Given the description of an element on the screen output the (x, y) to click on. 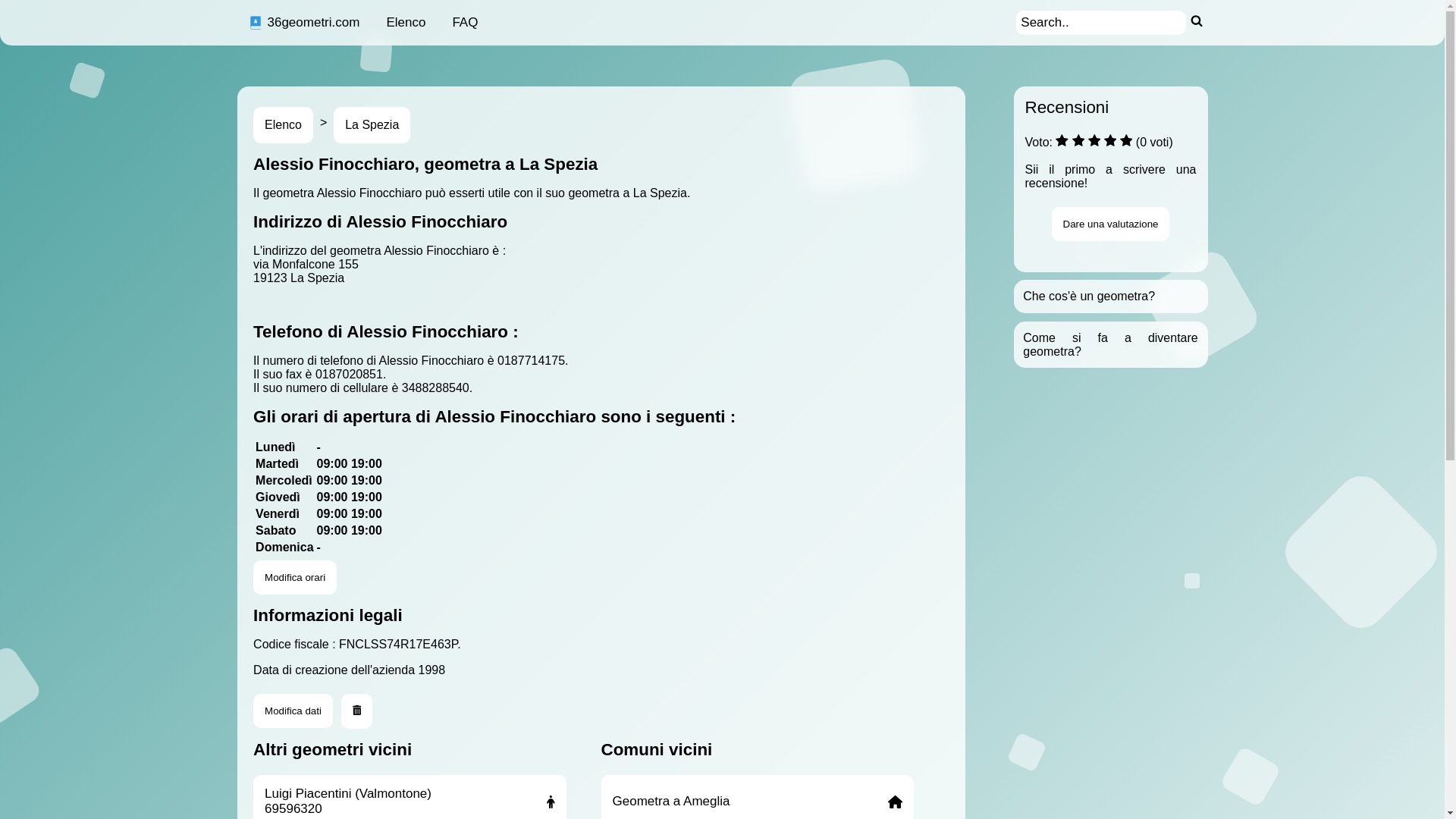
Modifica orari Element type: text (294, 577)
Come si fa a diventare geometra? Element type: text (1109, 344)
36geometri.com Element type: text (303, 22)
Elenco Element type: text (283, 124)
La Spezia Element type: text (371, 124)
Dare una valutazione Element type: text (1110, 224)
Modifica dati Element type: text (292, 710)
FAQ Element type: text (464, 22)
3488288540 Element type: text (435, 387)
Elenco Element type: text (405, 22)
0187714175 Element type: text (530, 360)
